Given the description of an element on the screen output the (x, y) to click on. 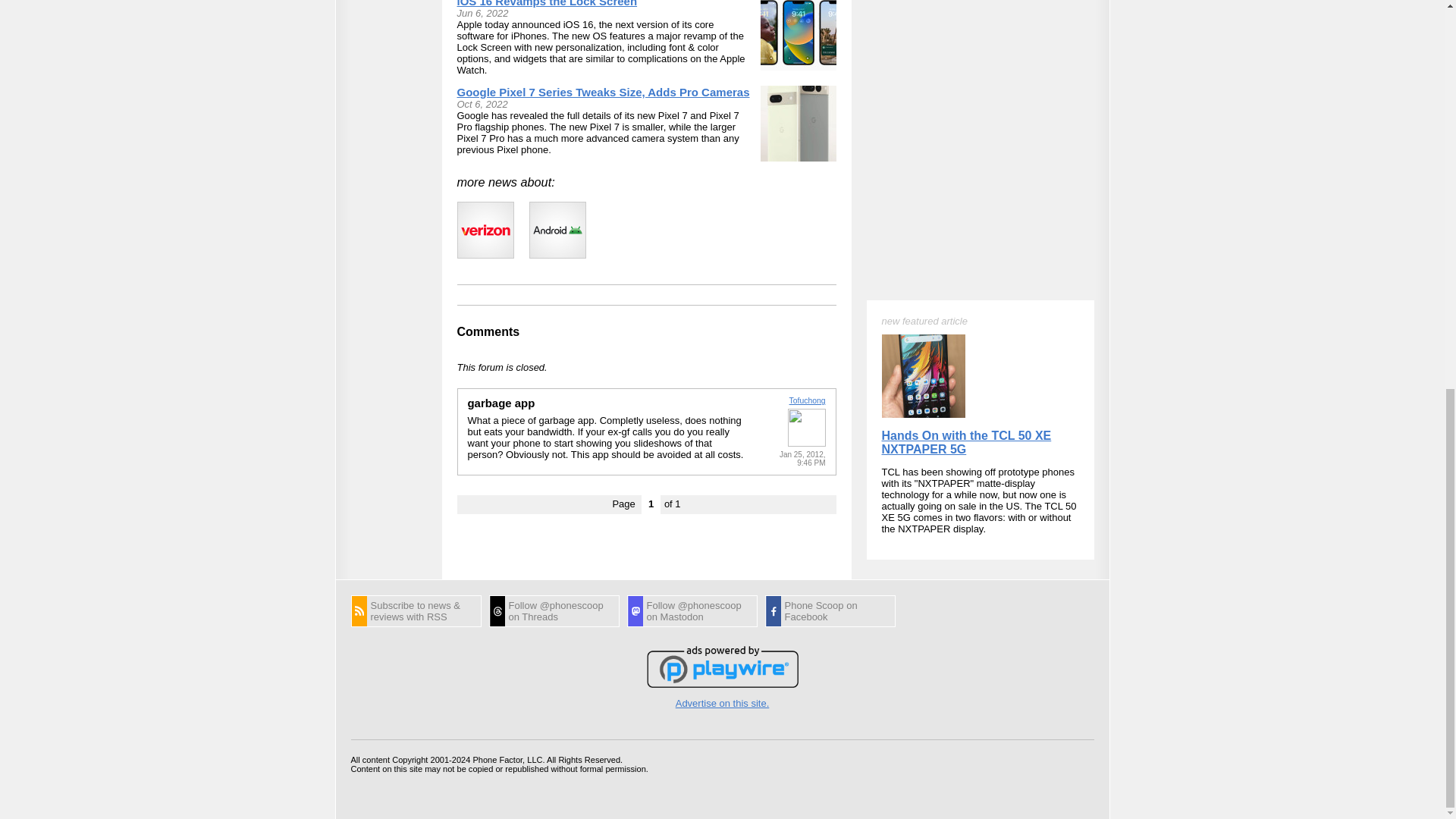
Verizon (485, 229)
Phone Scoop - Latest News (415, 611)
Comments (488, 331)
Tofuchong (807, 400)
Android (557, 229)
Hands On with the TCL 50 XE NXTPAPER 5G (965, 171)
